Given the description of an element on the screen output the (x, y) to click on. 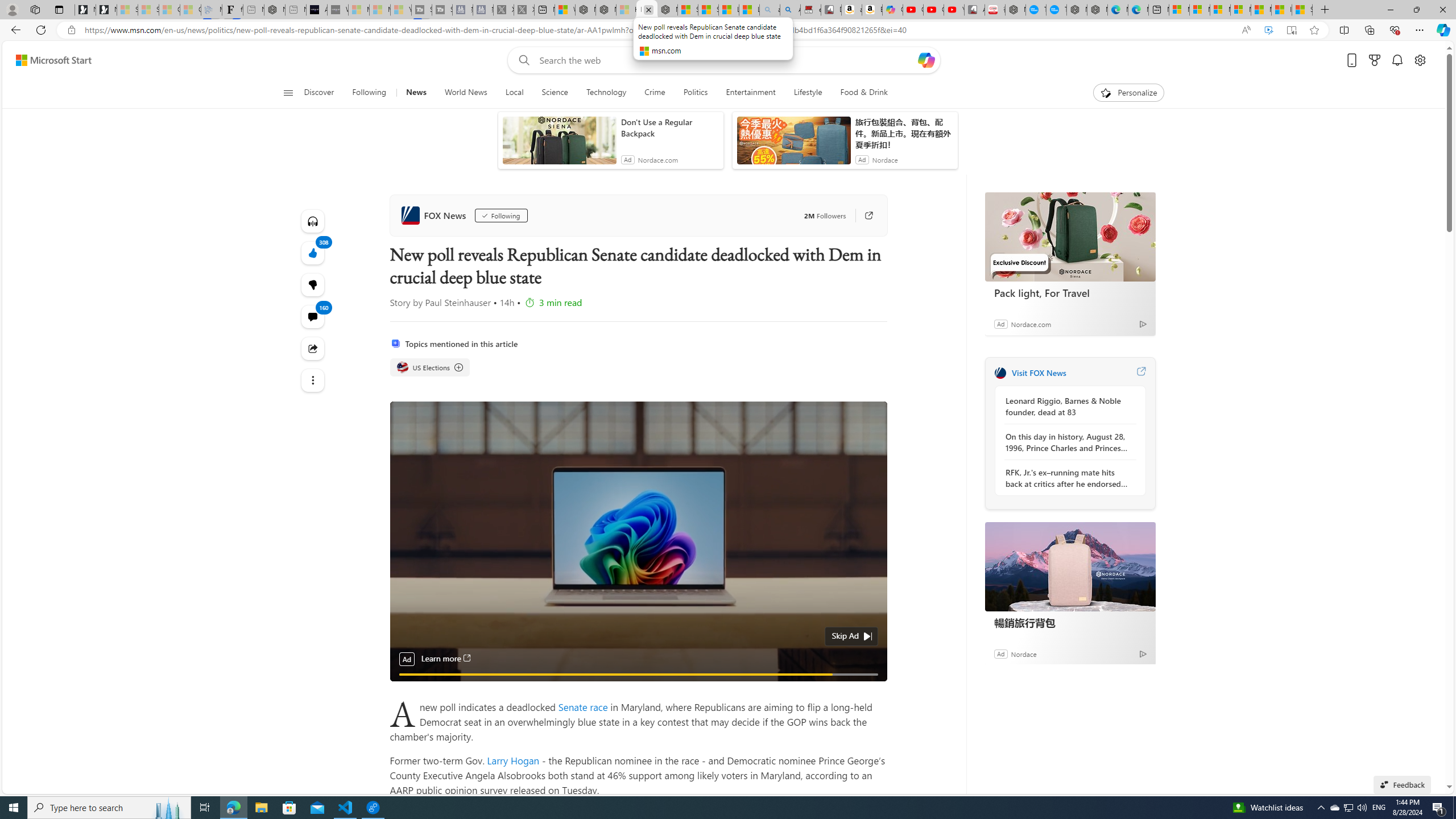
Enter Immersive Reader (F9) (1291, 29)
US Elections (430, 367)
Local (514, 92)
Skip to content (49, 59)
AI Voice Changer for PC and Mac - Voice.ai (316, 9)
Crime (655, 92)
Class: button-glyph (287, 92)
Listen to this article (312, 220)
Enhance video (1268, 29)
